Given the description of an element on the screen output the (x, y) to click on. 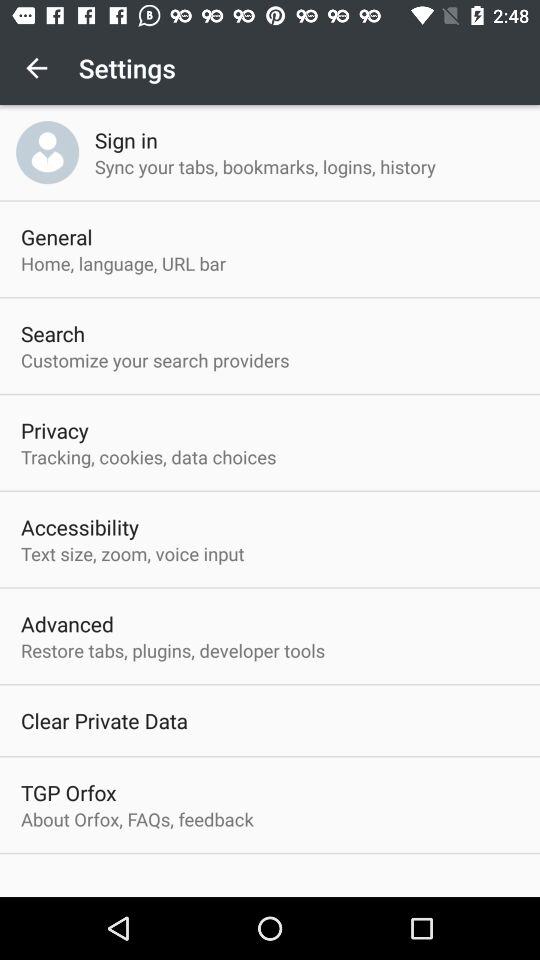
scroll to home language url (123, 263)
